Given the description of an element on the screen output the (x, y) to click on. 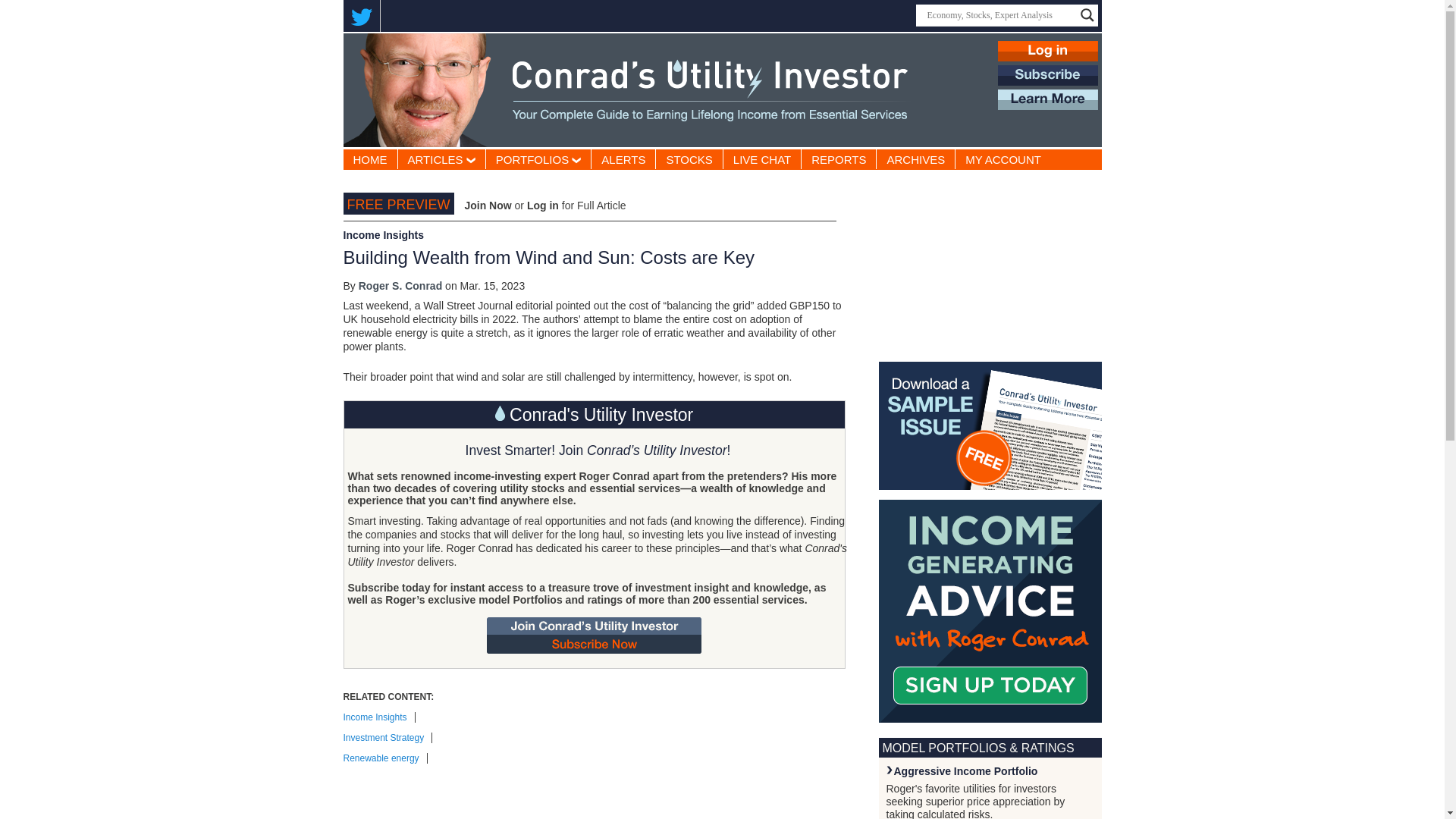
Renewable energy (384, 757)
STOCKS (689, 157)
ARCHIVES (915, 157)
Log in (543, 205)
Income Insights (378, 716)
REPORTS (839, 157)
Join Now (487, 205)
PORTFOLIOS (538, 157)
LIVE CHAT (761, 157)
HOME (369, 157)
